Given the description of an element on the screen output the (x, y) to click on. 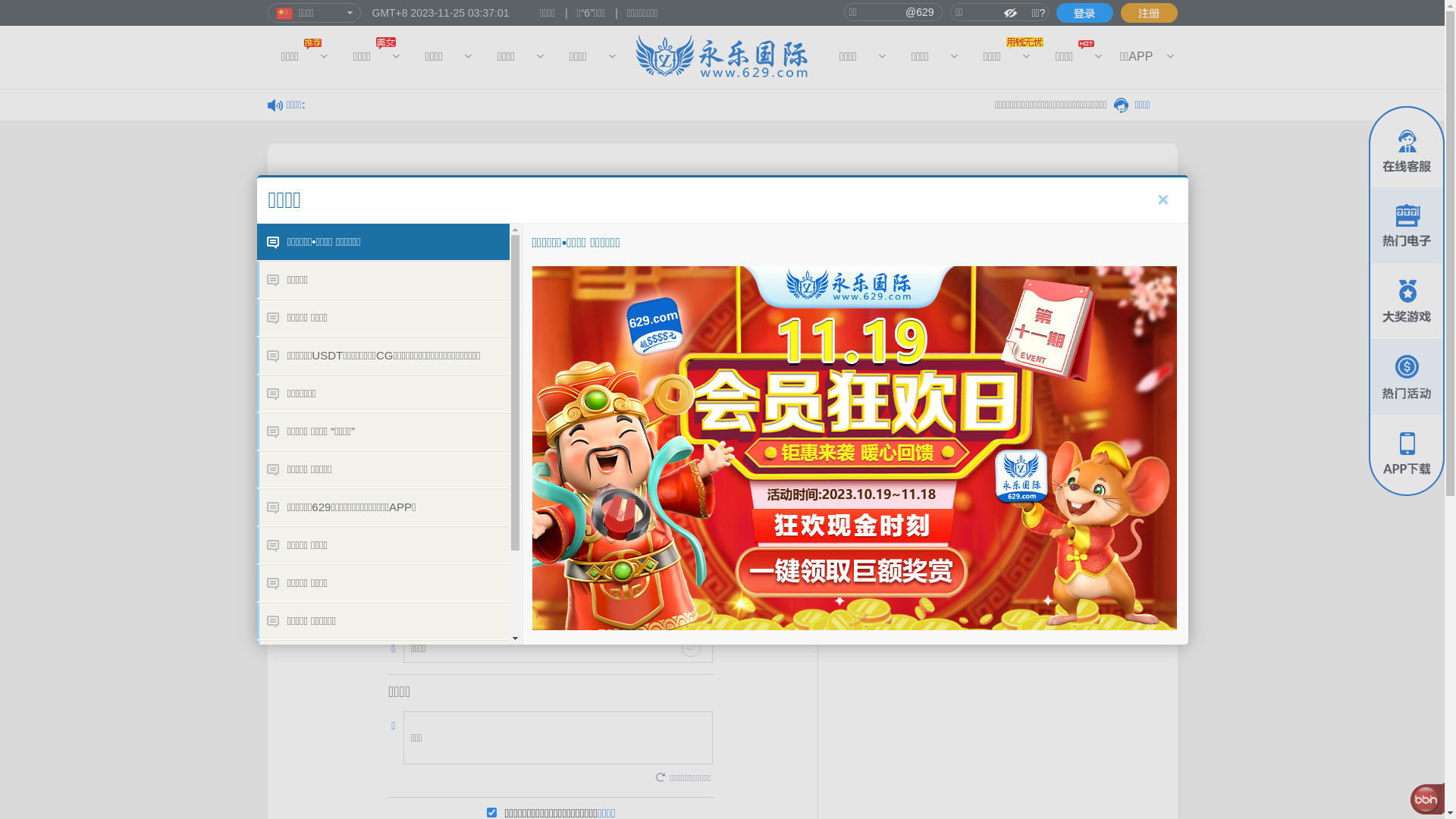
  Element type: text (1083, 12)
  Element type: hover (1083, 12)
